Given the description of an element on the screen output the (x, y) to click on. 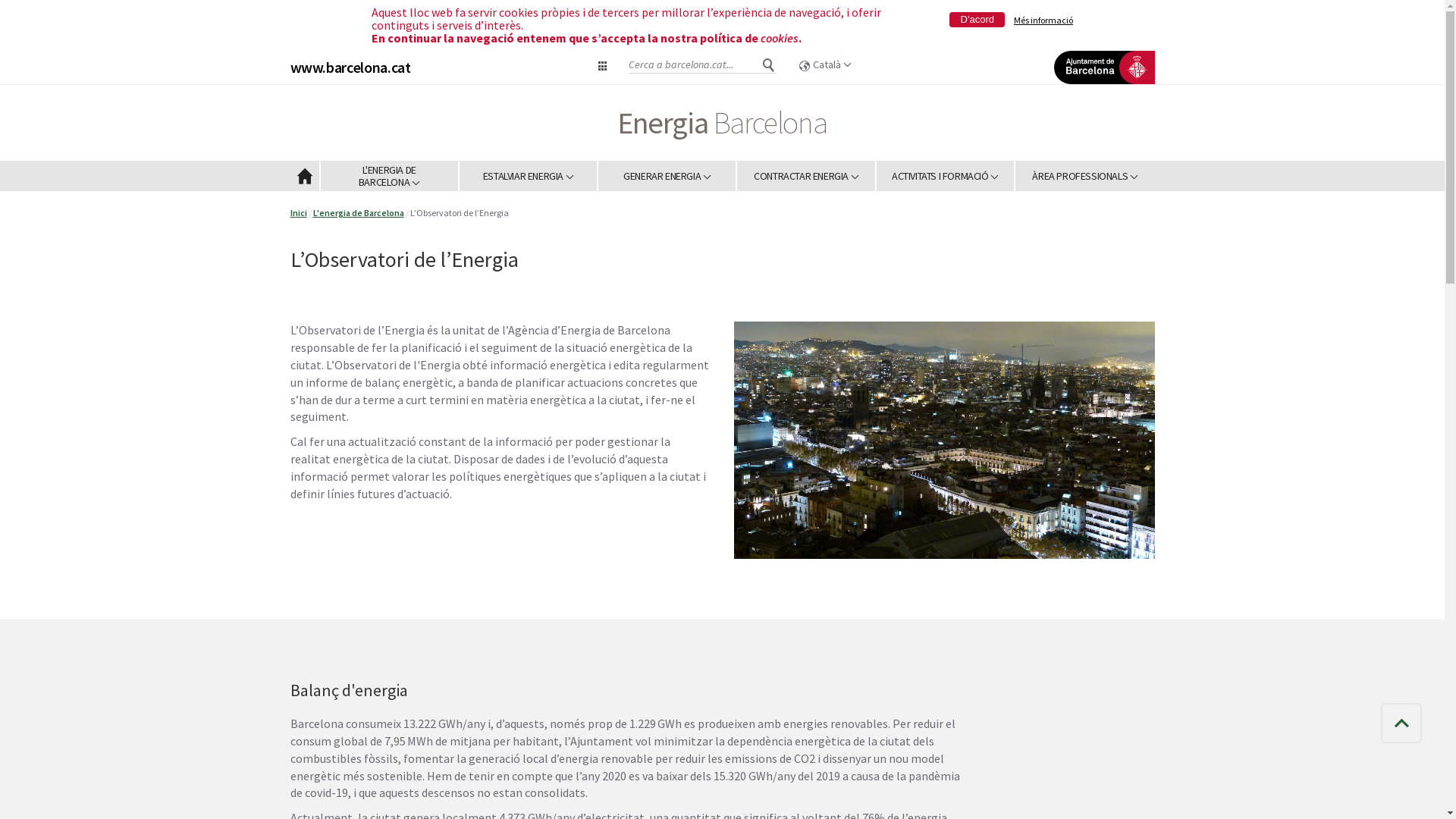
CONTRACTAR ENERGIA  Element type: text (806, 175)
D'acord Element type: text (976, 19)
Observatori Element type: hover (944, 439)
L'energia de Barcelona Element type: text (357, 212)
GENERAR ENERGIA  Element type: text (667, 175)
Dreceres de barcelona.cat Element type: hover (602, 64)
www.barcelona.cat Element type: text (349, 66)
observatori.jpg Element type: text (803, 331)
L'ENERGIA DE BARCELONA  Element type: text (389, 175)
Inici Element type: text (297, 212)
cookies Element type: text (779, 37)
ESTALVIAR ENERGIA  Element type: text (528, 175)
Energia Barcelona Element type: text (722, 122)
Inici Element type: hover (304, 175)
